Given the description of an element on the screen output the (x, y) to click on. 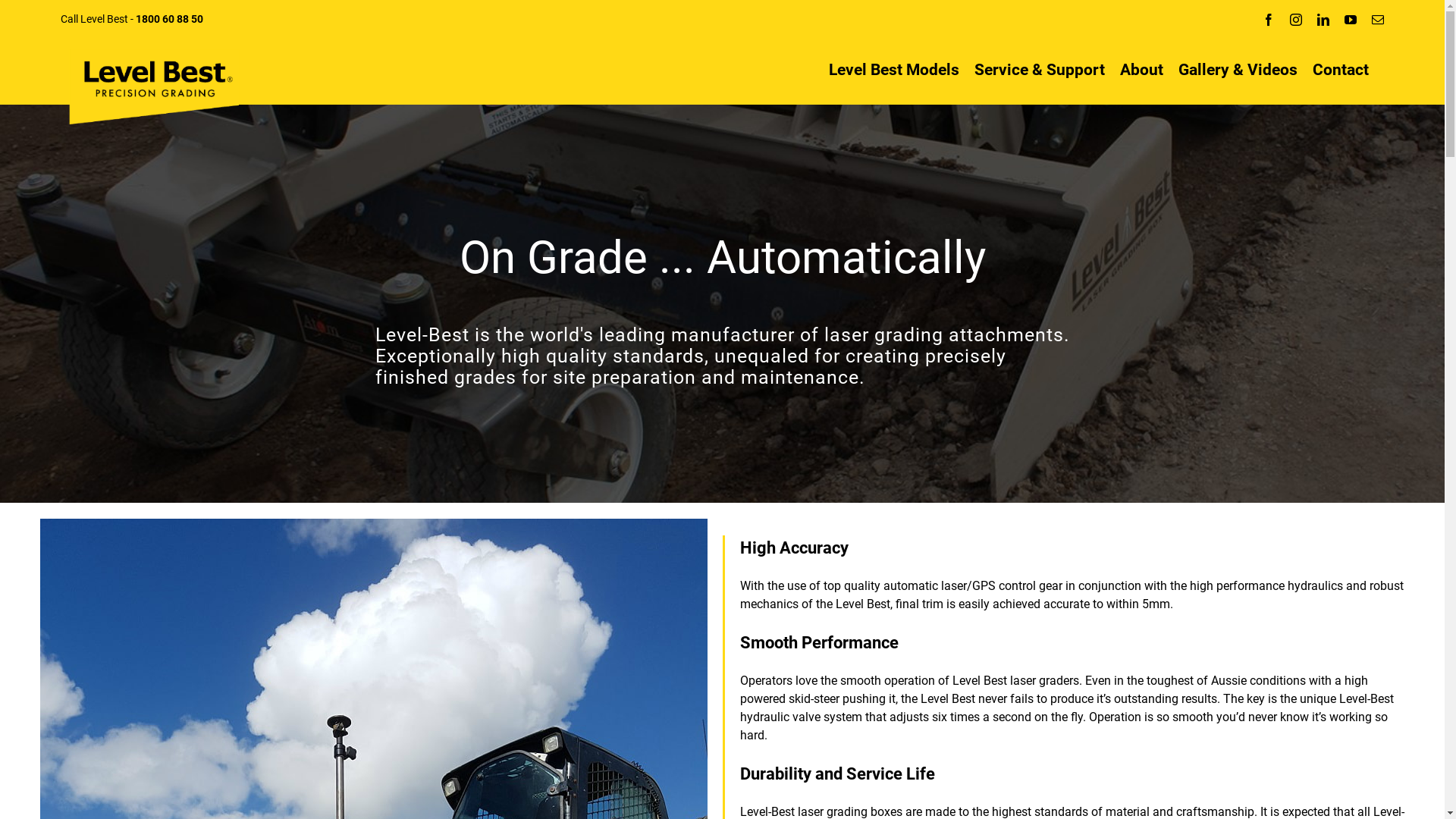
Contact Element type: text (1340, 69)
YouTube Element type: text (1350, 19)
Email Element type: text (1377, 19)
Service & Support Element type: text (1039, 69)
Facebook Element type: text (1268, 19)
LinkedIn Element type: text (1323, 19)
About Element type: text (1141, 69)
Gallery & Videos Element type: text (1237, 69)
Instagram Element type: text (1295, 19)
Level Best Models Element type: text (893, 69)
